Given the description of an element on the screen output the (x, y) to click on. 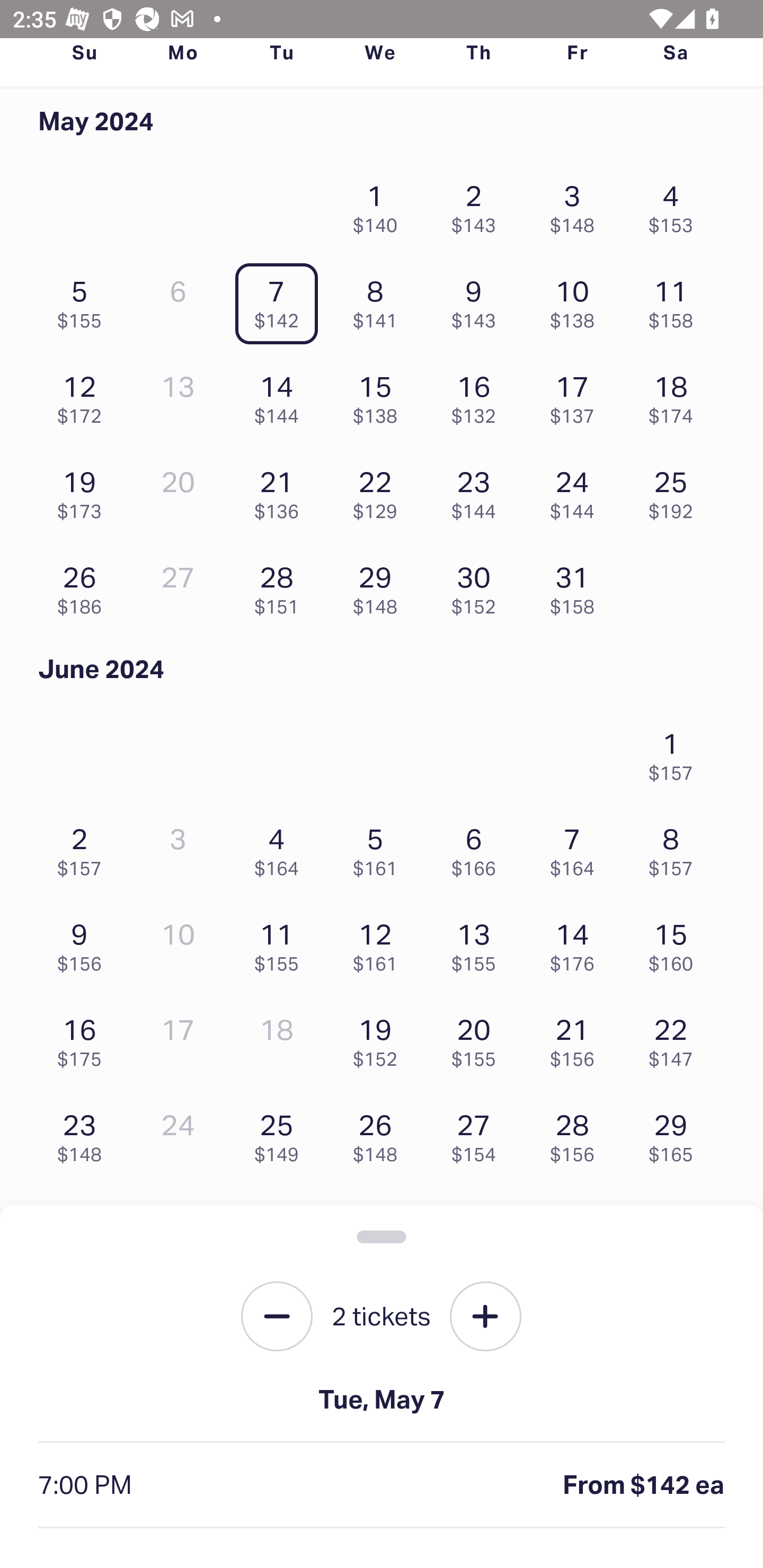
1 $140 (379, 204)
2 $143 (478, 204)
3 $148 (577, 204)
4 $153 (675, 204)
5 $155 (84, 299)
7 $142 (281, 299)
8 $141 (379, 299)
9 $143 (478, 299)
10 $138 (577, 299)
11 $158 (675, 299)
12 $172 (84, 395)
14 $144 (281, 395)
15 $138 (379, 395)
16 $132 (478, 395)
17 $137 (577, 395)
18 $174 (675, 395)
19 $173 (84, 489)
21 $136 (281, 489)
22 $129 (379, 489)
23 $144 (478, 489)
24 $144 (577, 489)
25 $192 (675, 489)
26 $186 (84, 585)
28 $151 (281, 585)
29 $148 (379, 585)
30 $152 (478, 585)
31 $158 (577, 585)
1 $157 (675, 751)
2 $157 (84, 847)
4 $164 (281, 847)
5 $161 (379, 847)
6 $166 (478, 847)
7 $164 (577, 847)
8 $157 (675, 847)
9 $156 (84, 942)
11 $155 (281, 942)
12 $161 (379, 942)
13 $155 (478, 942)
14 $176 (577, 942)
15 $160 (675, 942)
16 $175 (84, 1038)
19 $152 (379, 1038)
20 $155 (478, 1038)
21 $156 (577, 1038)
22 $147 (675, 1038)
23 $148 (84, 1133)
25 $149 (281, 1133)
26 $148 (379, 1133)
27 $154 (478, 1133)
28 $156 (577, 1133)
29 $165 (675, 1133)
7:00 PM From $142 ea (381, 1485)
